Given the description of an element on the screen output the (x, y) to click on. 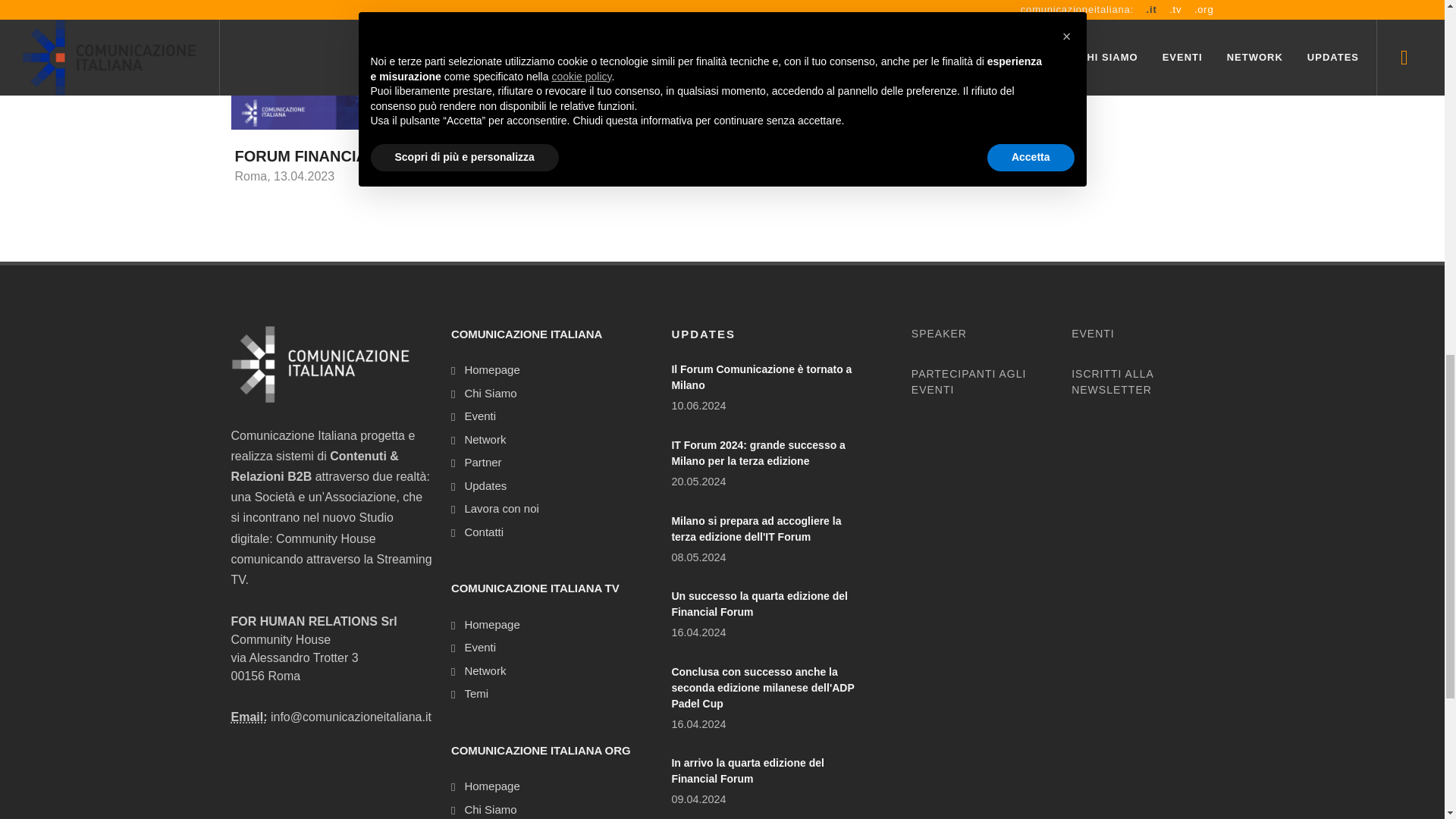
Network (481, 671)
Contatti (479, 532)
Eventi (475, 416)
Chi Siamo (486, 810)
Partner (478, 462)
Homepage (487, 370)
FORUM FINANCIAL 2023 (323, 156)
Temi (472, 693)
Chi Siamo (486, 393)
